Given the description of an element on the screen output the (x, y) to click on. 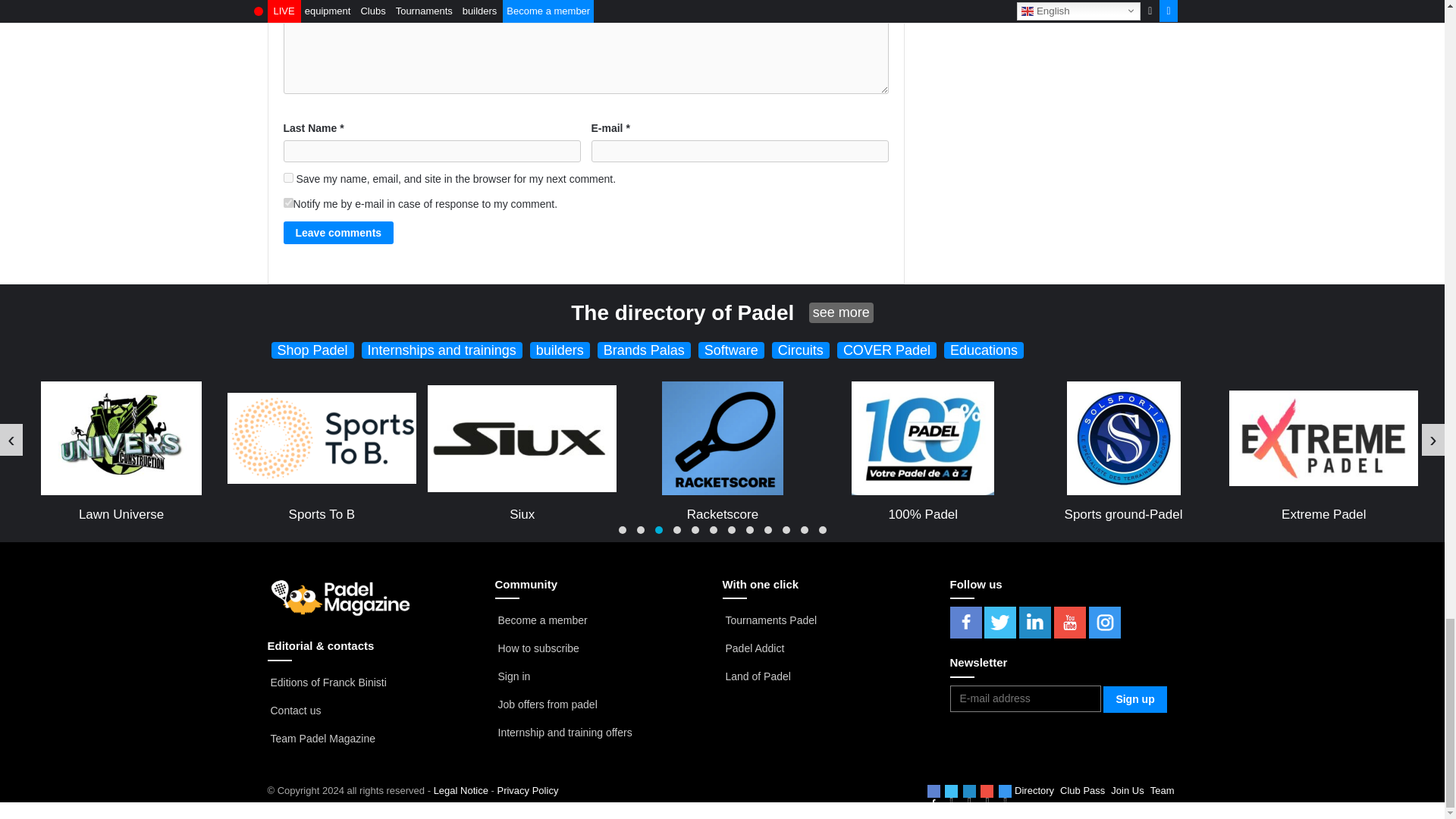
on (288, 203)
yes (288, 177)
Sign up (1134, 699)
Leave comments (338, 232)
